Given the description of an element on the screen output the (x, y) to click on. 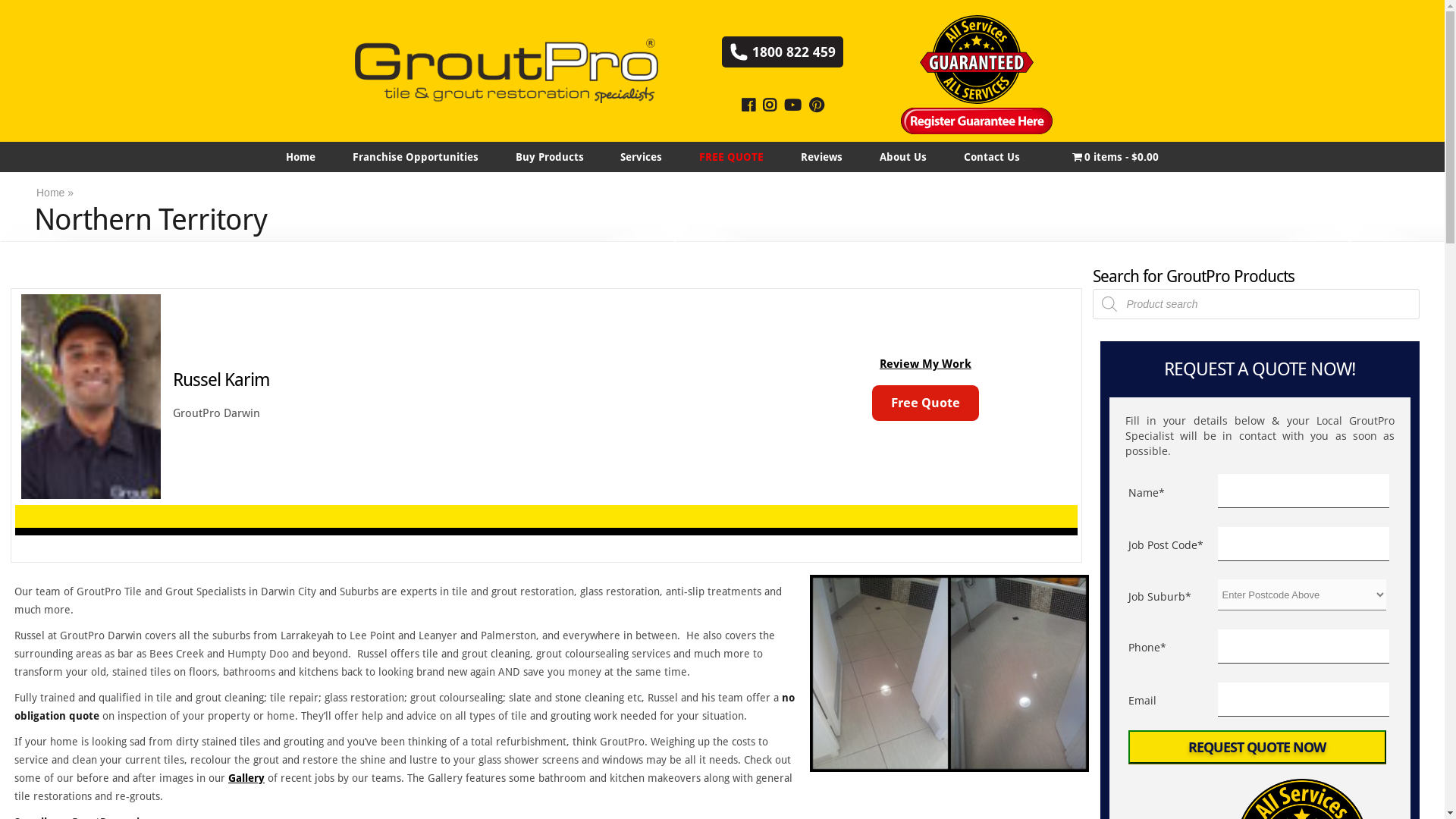
FREE QUOTE Element type: text (731, 156)
About Us Element type: text (902, 156)
Contact Us Element type: text (991, 156)
Reviews Element type: text (821, 156)
Review My Work Element type: text (925, 363)
Franchise Opportunities Element type: text (414, 156)
Services Element type: text (641, 156)
Home Element type: text (299, 156)
Free Quote Element type: text (925, 402)
Request Quote Now Element type: text (1257, 746)
Grout & tile cleaning Darwin Element type: hover (948, 672)
1800 822 459 Element type: text (782, 52)
Home Element type: text (50, 192)
0 items$0.00 Element type: text (1114, 156)
Gallery Element type: text (246, 777)
Buy Products Element type: text (549, 156)
